Given the description of an element on the screen output the (x, y) to click on. 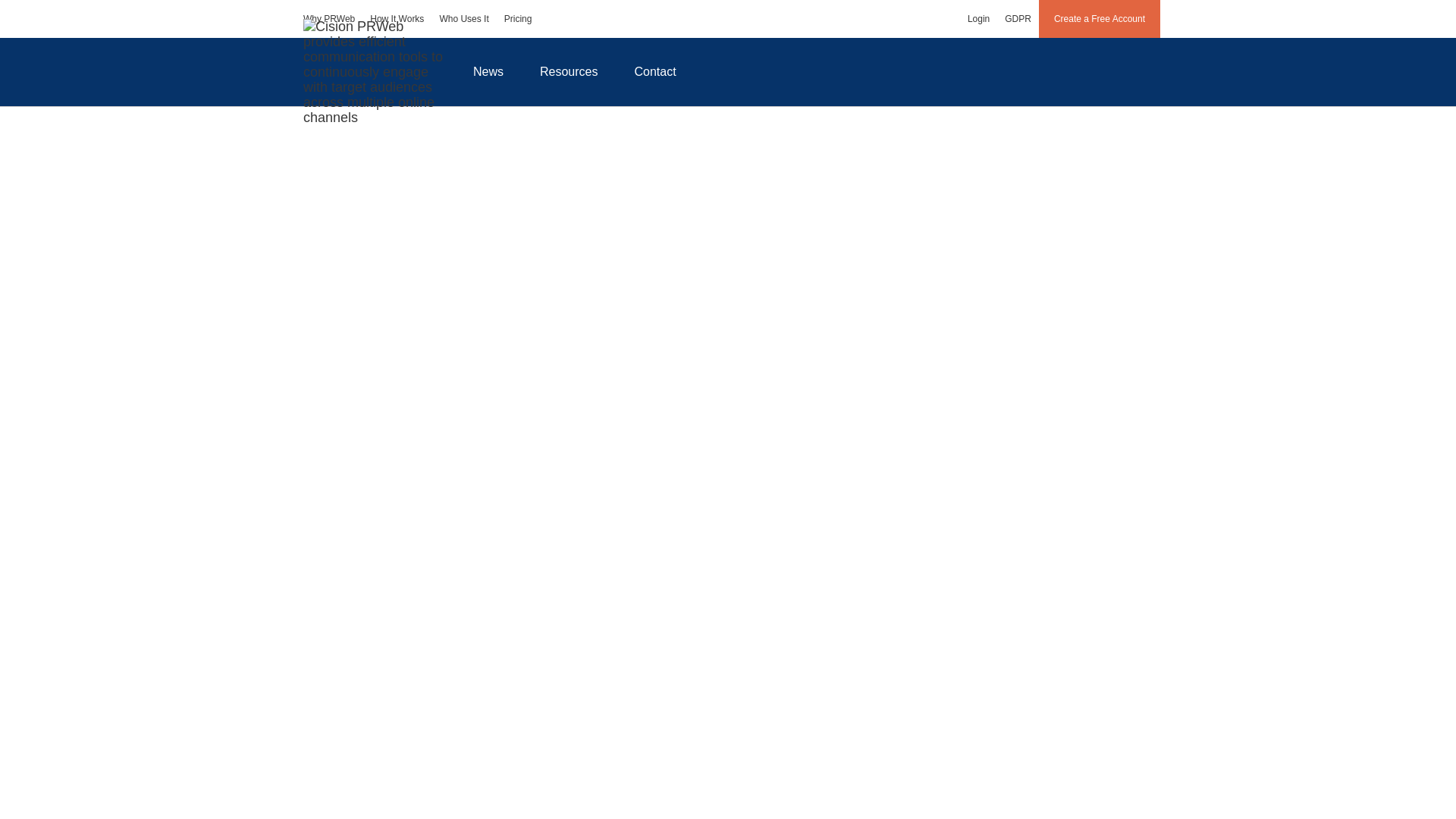
GDPR (1018, 18)
How It Works (396, 18)
Resources (568, 71)
Pricing (518, 18)
Who Uses It (463, 18)
Login (978, 18)
News (487, 71)
Contact (654, 71)
Why PRWeb (328, 18)
Create a Free Account (1099, 18)
